Given the description of an element on the screen output the (x, y) to click on. 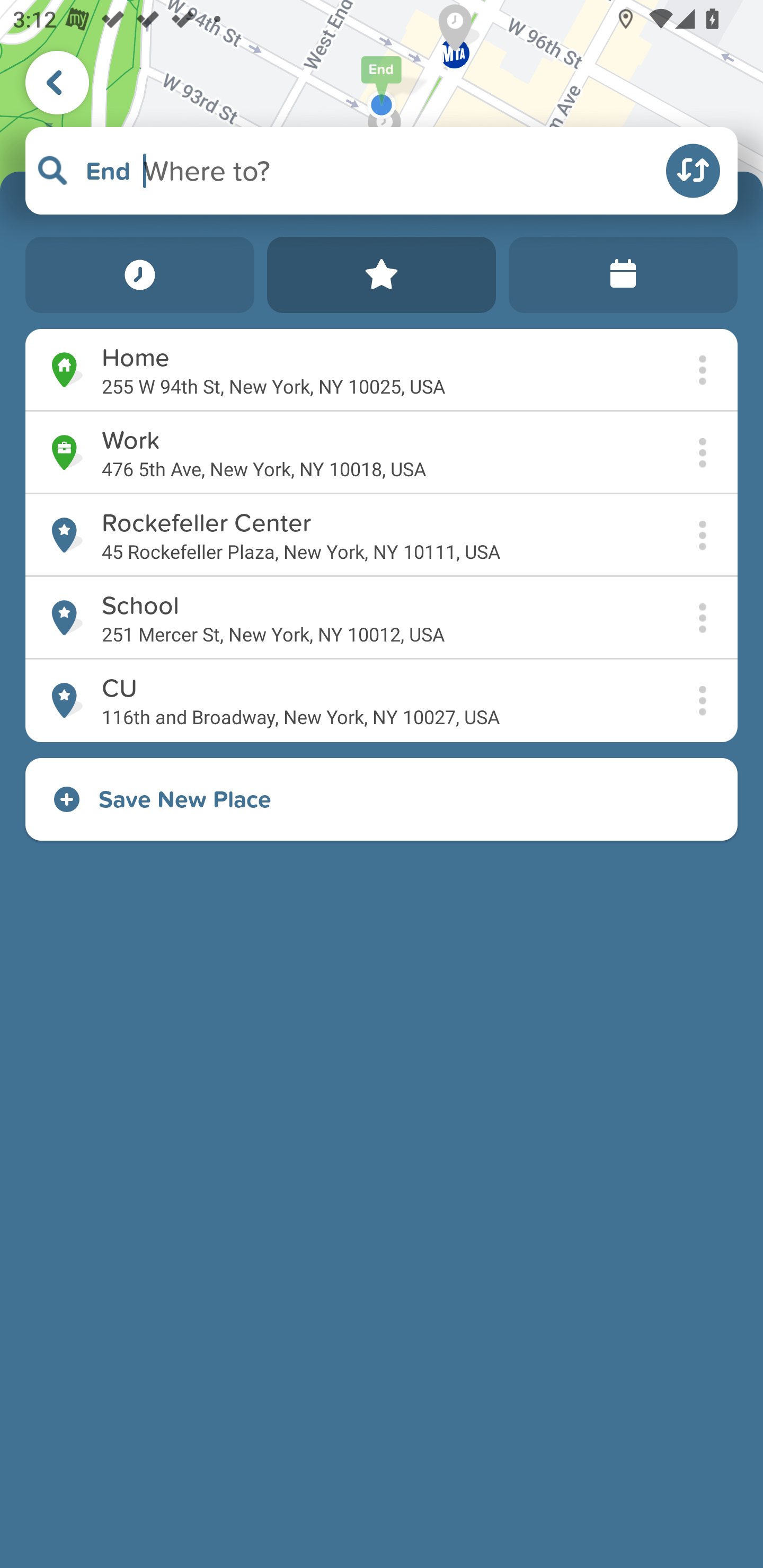
CU 116th and Broadway, New York, NY 10027, USA (381, 700)
